Given the description of an element on the screen output the (x, y) to click on. 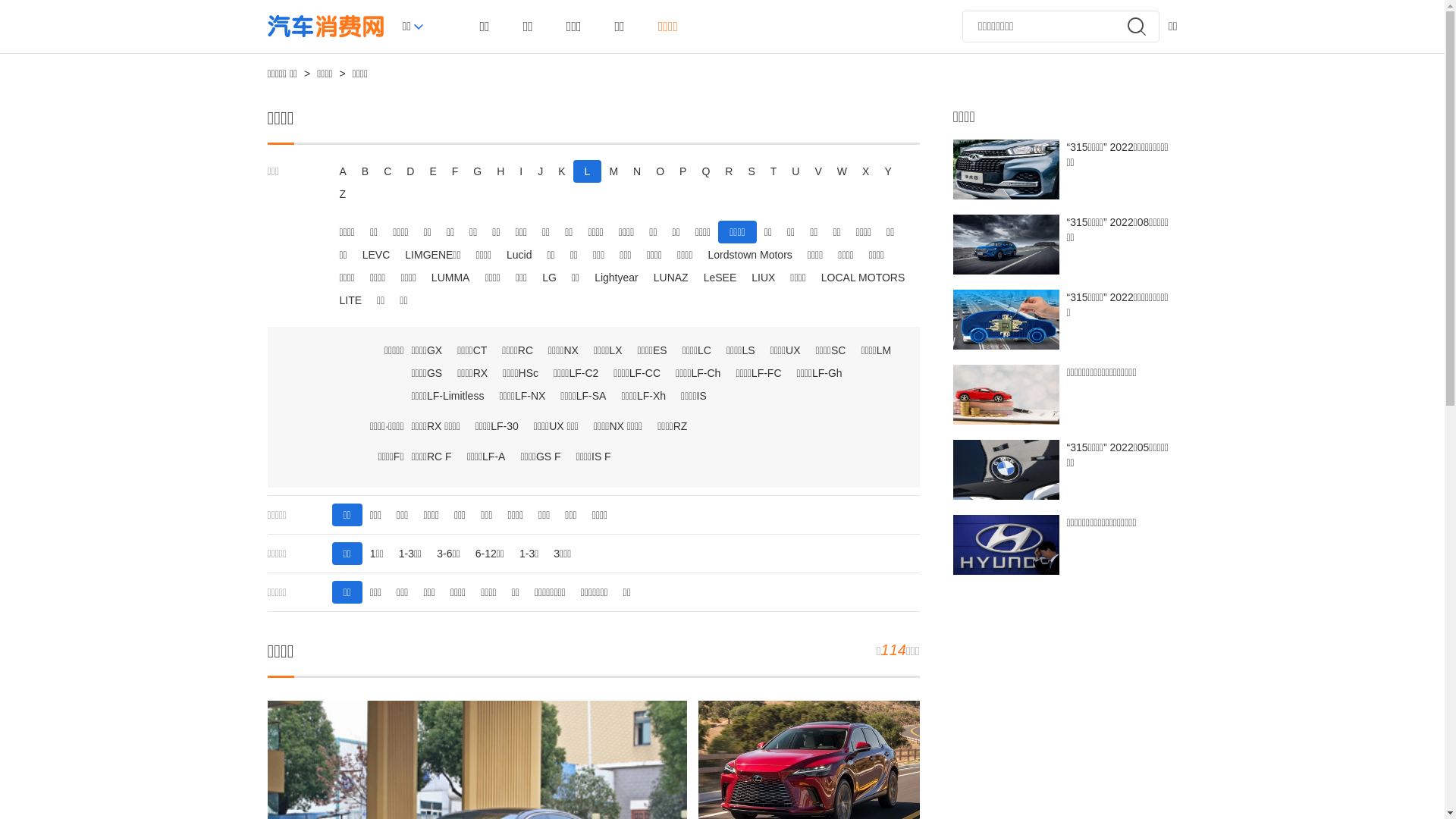
Lucid Element type: text (518, 254)
LOCAL MOTORS Element type: text (862, 277)
LG Element type: text (549, 277)
F Element type: text (455, 171)
Q Element type: text (705, 171)
E Element type: text (432, 171)
LEVC Element type: text (376, 254)
LUMMA Element type: text (450, 277)
I Element type: text (520, 171)
LITE Element type: text (351, 299)
A Element type: text (343, 171)
Z Element type: text (343, 193)
D Element type: text (409, 171)
LIUX Element type: text (762, 277)
Lightyear Element type: text (616, 277)
N Element type: text (636, 171)
LeSEE Element type: text (720, 277)
C Element type: text (387, 171)
K Element type: text (561, 171)
T Element type: text (773, 171)
W Element type: text (841, 171)
L Element type: text (587, 171)
B Element type: text (365, 171)
LUNAZ Element type: text (671, 277)
R Element type: text (728, 171)
S Element type: text (751, 171)
U Element type: text (795, 171)
J Element type: text (540, 171)
Y Element type: text (887, 171)
Lordstown Motors Element type: text (750, 254)
V Element type: text (817, 171)
G Element type: text (477, 171)
H Element type: text (500, 171)
X Element type: text (865, 171)
M Element type: text (613, 171)
O Element type: text (659, 171)
P Element type: text (682, 171)
